Given the description of an element on the screen output the (x, y) to click on. 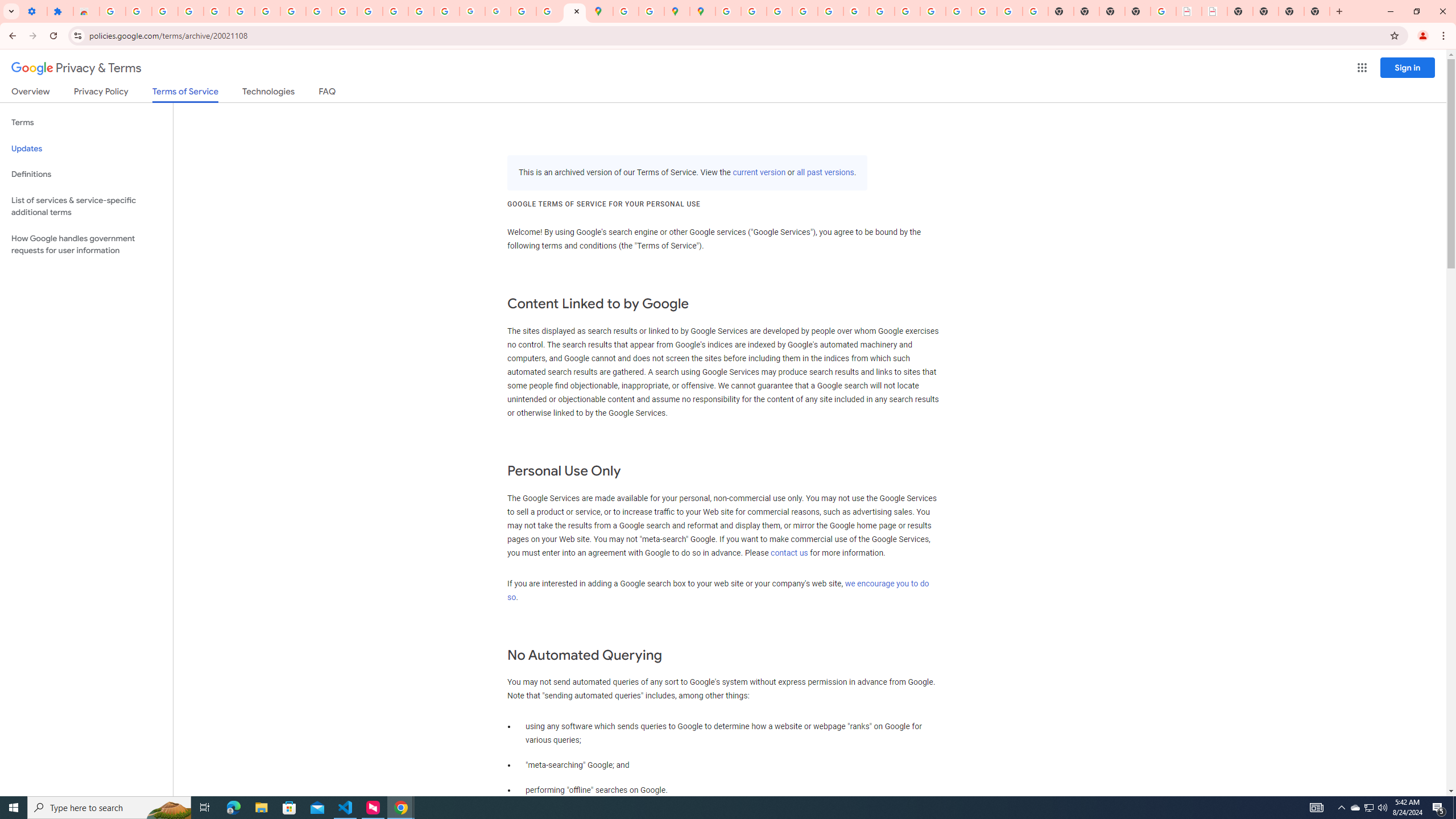
all past versions (825, 172)
Safety in Our Products - Google Safety Center (651, 11)
LAAD Defence & Security 2025 | BAE Systems (1188, 11)
Google Images (1034, 11)
Privacy Help Center - Policies Help (804, 11)
Terms (86, 122)
New Tab (1137, 11)
Sign in - Google Accounts (112, 11)
